Given the description of an element on the screen output the (x, y) to click on. 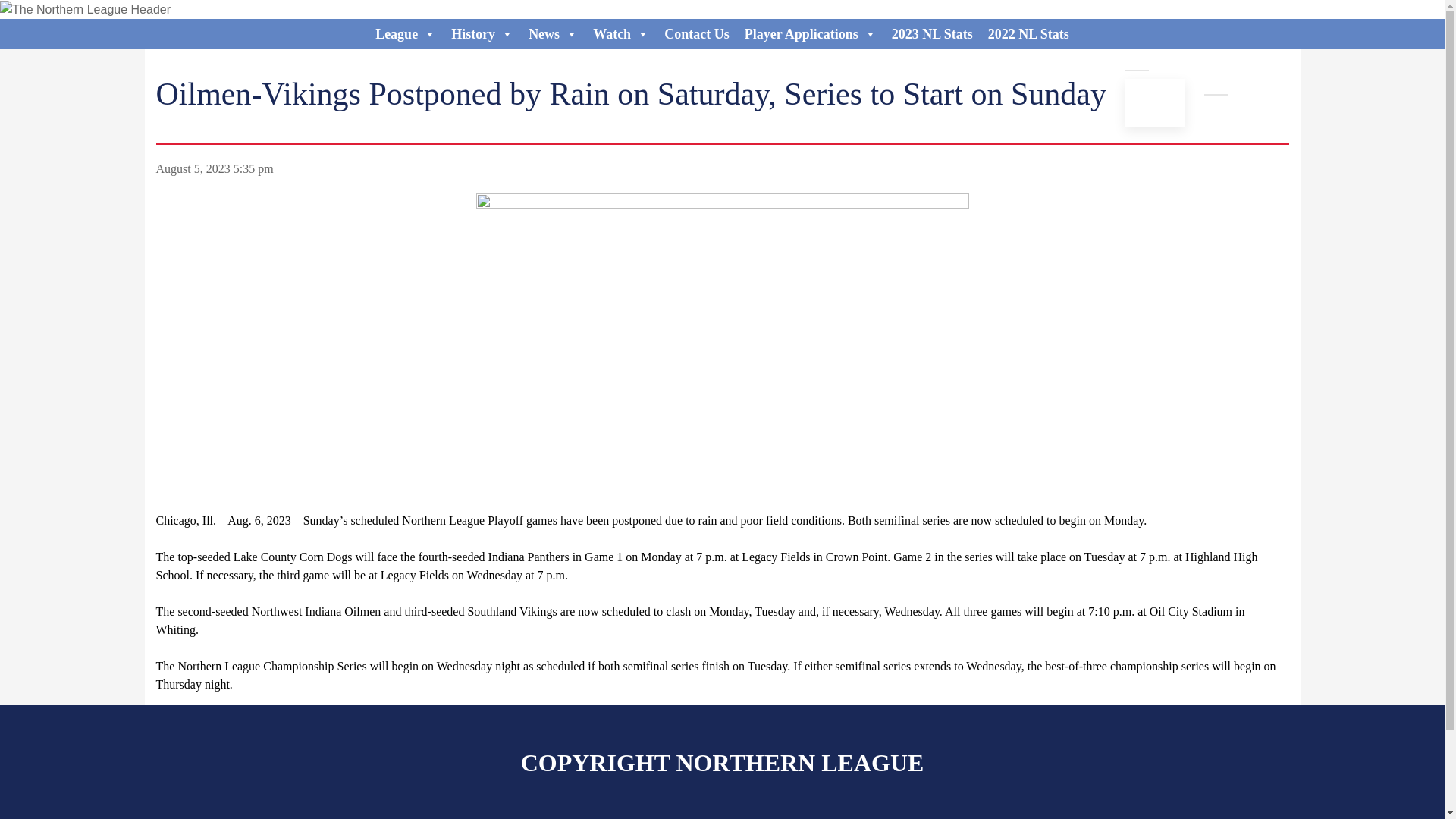
Contact Us (696, 33)
News (553, 33)
History (482, 33)
League (406, 33)
2023 NL Stats (931, 33)
Player Applications (809, 33)
Watch (620, 33)
2022 NL Stats (1028, 33)
